Given the description of an element on the screen output the (x, y) to click on. 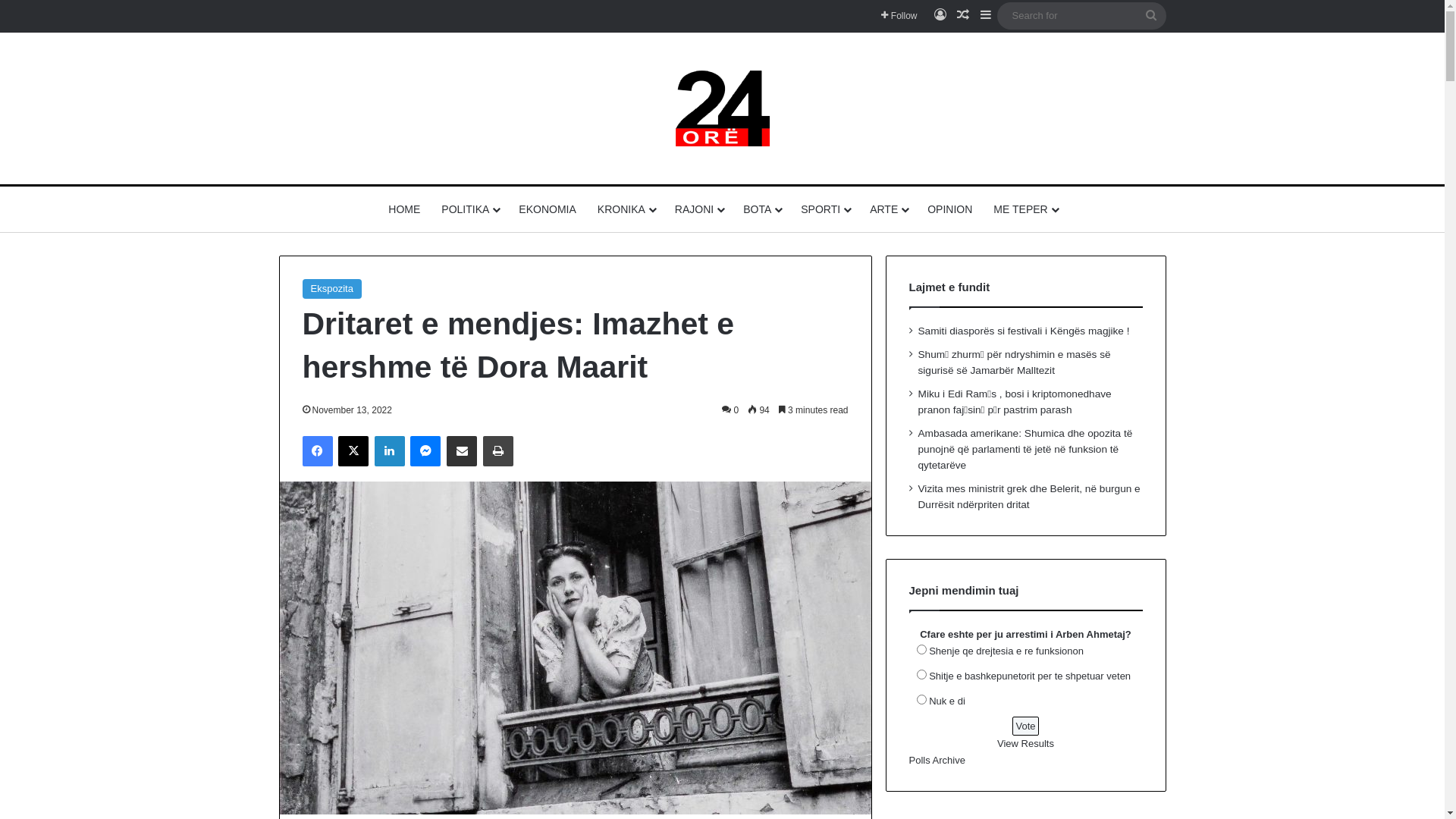
Facebook Element type: text (316, 451)
Print Element type: text (498, 451)
KRONIKA Element type: text (625, 209)
Log In Element type: text (939, 15)
Random Article Element type: text (961, 15)
ME TEPER Element type: text (1024, 209)
Sidebar Element type: text (984, 15)
LinkedIn Element type: text (389, 451)
 Vote  Element type: text (1025, 725)
Polls Archive Element type: text (937, 759)
Ekspozita Element type: text (330, 288)
RAJONI Element type: text (698, 209)
EKONOMIA Element type: text (547, 209)
ARTE Element type: text (887, 209)
OPINION Element type: text (949, 209)
BOTA Element type: text (761, 209)
Follow Element type: text (898, 15)
View Results Element type: text (1025, 743)
Search for Element type: text (1150, 15)
HOME Element type: text (403, 209)
Search for Element type: hover (1080, 15)
X Element type: text (353, 451)
Messenger Element type: text (425, 451)
Share via Email Element type: text (461, 451)
24 ore lajme Element type: hover (721, 108)
POLITIKA Element type: text (469, 209)
SPORTI Element type: text (824, 209)
